Given the description of an element on the screen output the (x, y) to click on. 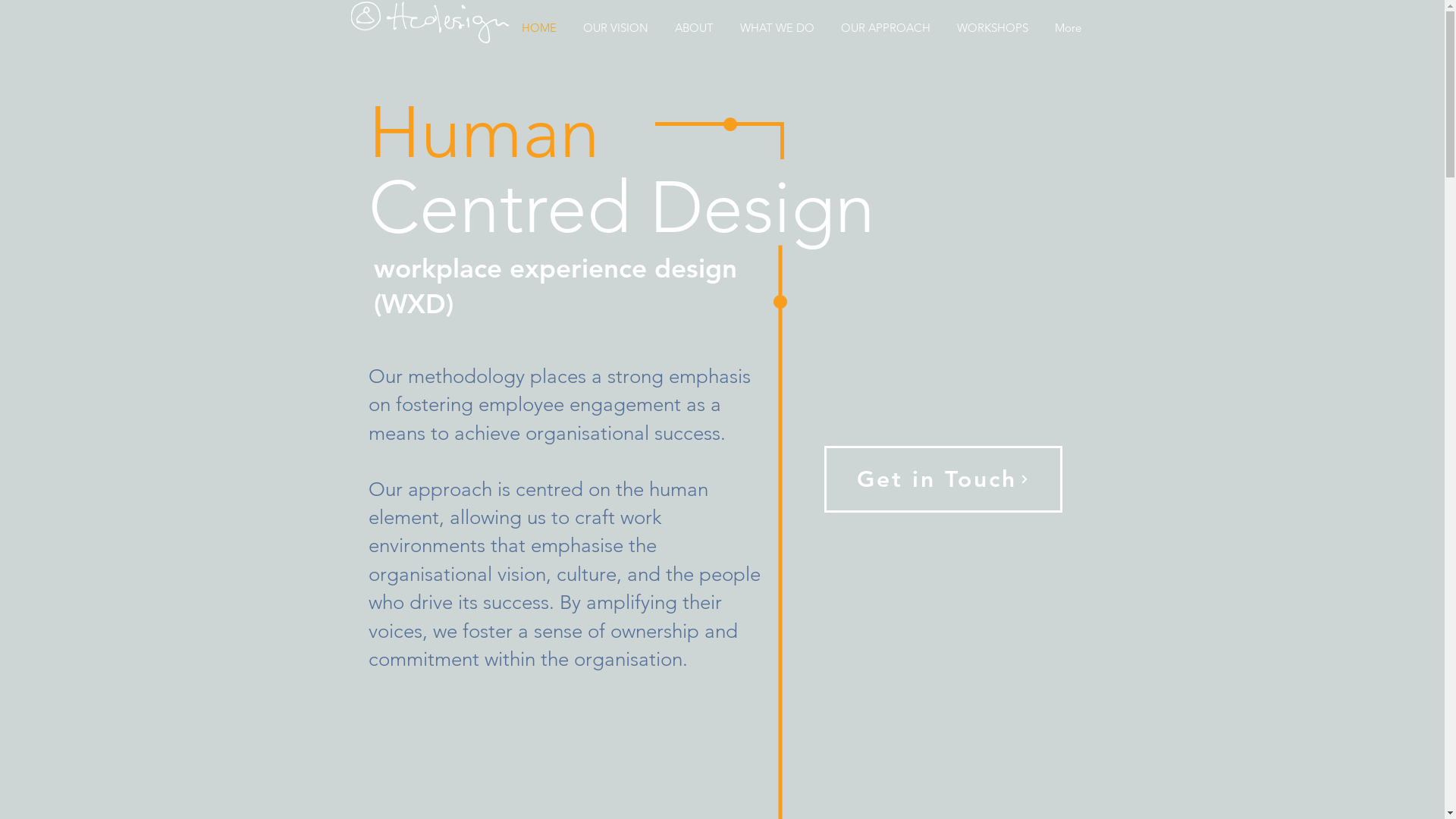
OUR APPROACH Element type: text (886, 27)
WORKSHOPS Element type: text (992, 27)
ABOUT Element type: text (693, 27)
Get in Touch Element type: text (942, 478)
OUR VISION Element type: text (616, 27)
HOME Element type: text (538, 27)
WHAT WE DO Element type: text (776, 27)
